Given the description of an element on the screen output the (x, y) to click on. 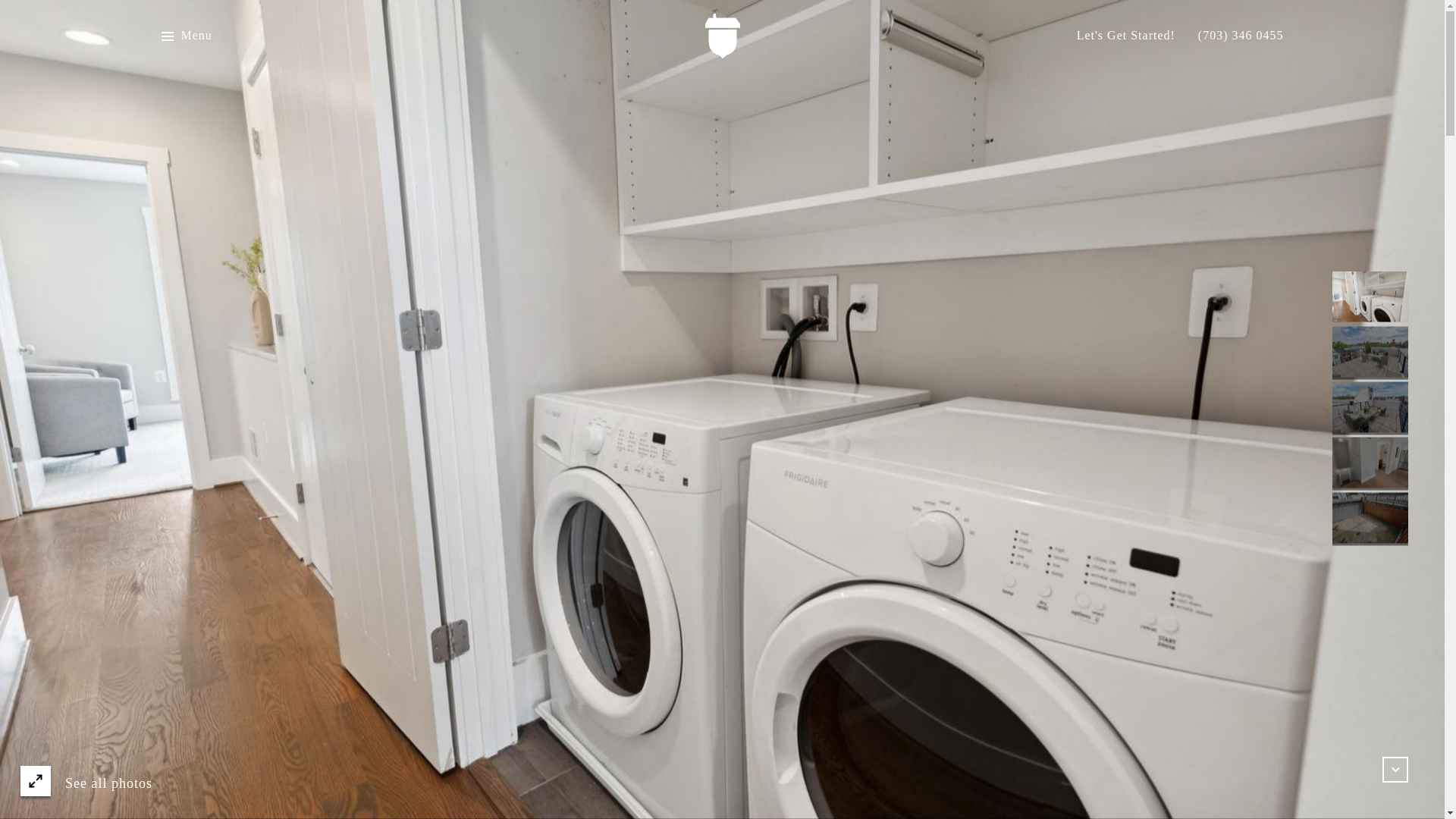
Menu (185, 35)
Menu (195, 35)
Let'S Get Started! (1125, 35)
